Given the description of an element on the screen output the (x, y) to click on. 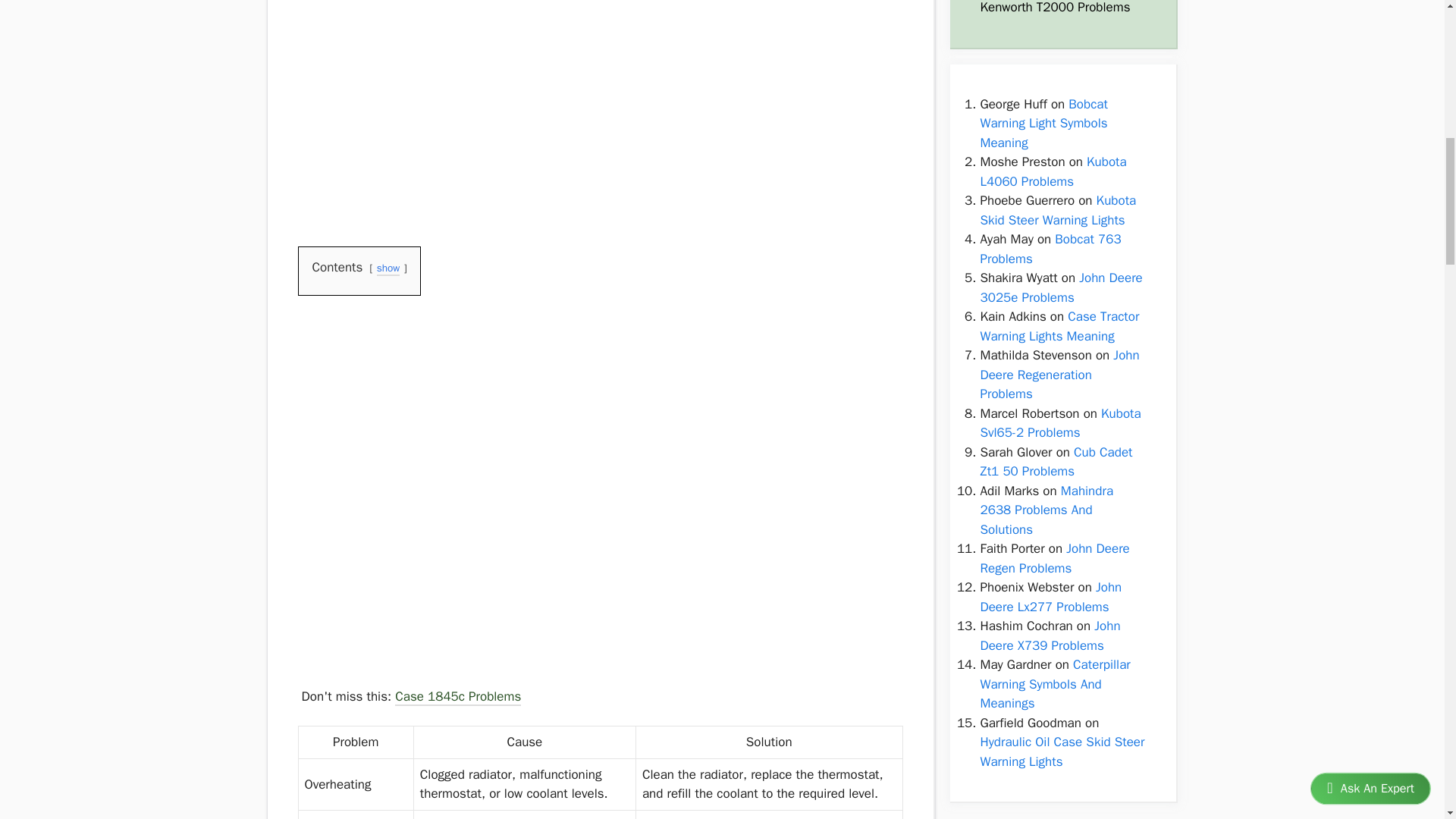
Case 1845c Problems (457, 697)
kioti nx4510 problems 2 (410, 371)
show (388, 269)
